Given the description of an element on the screen output the (x, y) to click on. 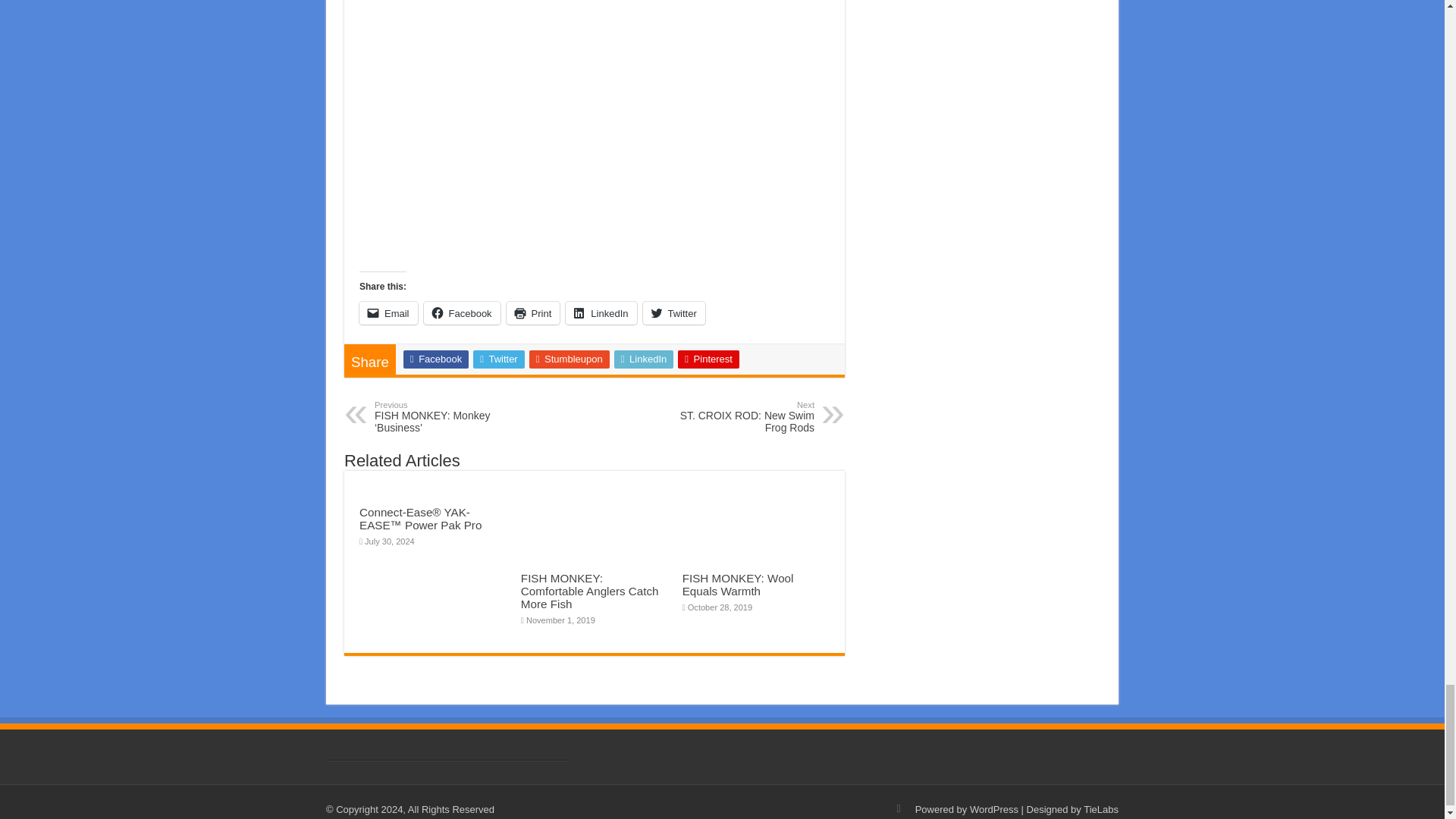
Stumbleupon (569, 359)
LinkedIn (601, 313)
Print (533, 313)
Click to share on Twitter (673, 313)
Twitter (498, 359)
Click to share on LinkedIn (601, 313)
Click to share on Facebook (461, 313)
Facebook (435, 359)
Email (388, 313)
Twitter (673, 313)
